Given the description of an element on the screen output the (x, y) to click on. 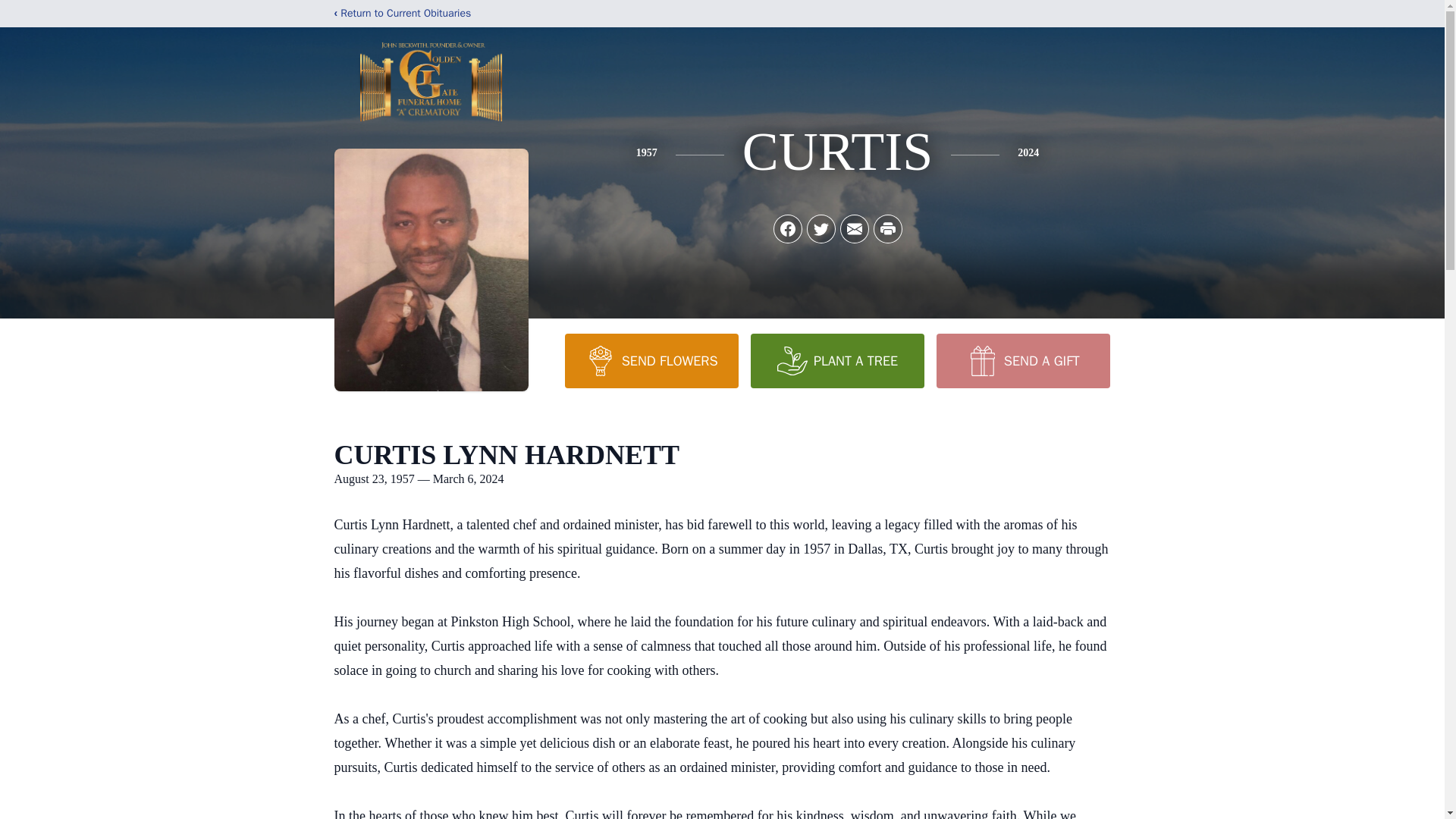
SEND A GIFT (1022, 360)
SEND FLOWERS (651, 360)
PLANT A TREE (837, 360)
